Given the description of an element on the screen output the (x, y) to click on. 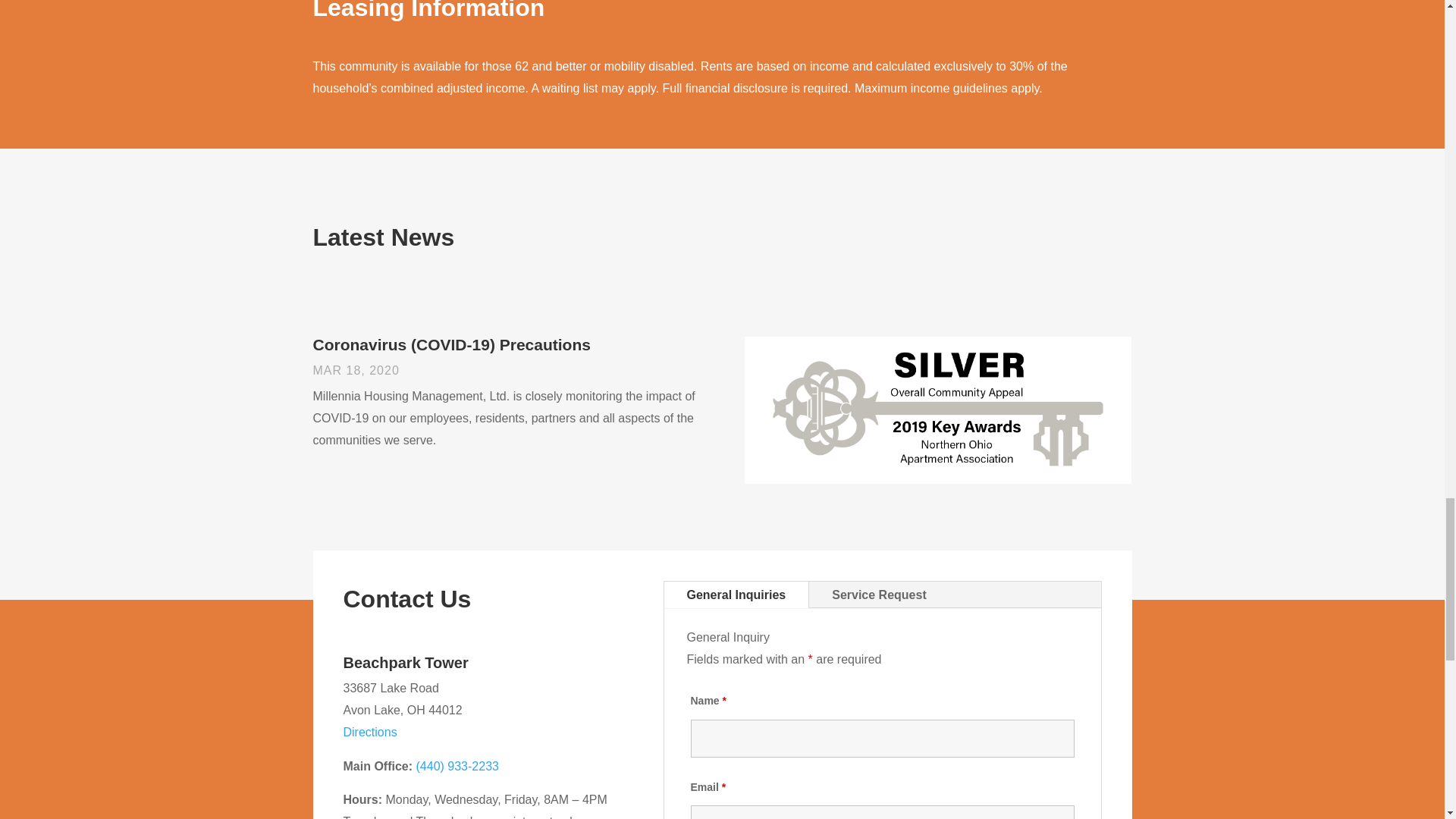
General Inquiries (736, 594)
Directions (369, 731)
Service Request (879, 594)
Key-logos-2019-Silver (937, 410)
